Given the description of an element on the screen output the (x, y) to click on. 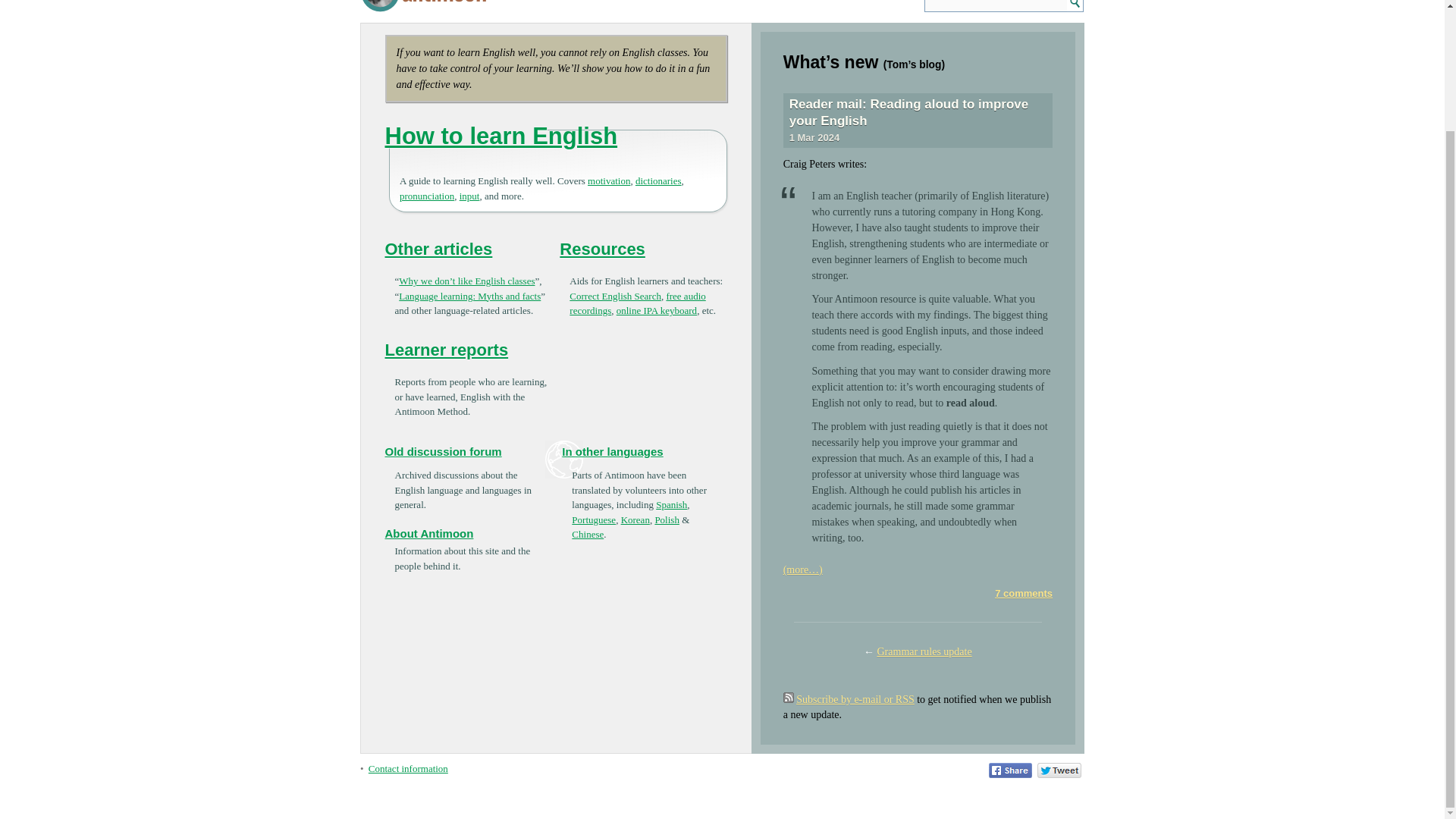
How to learn English (501, 135)
input (470, 195)
Contact information (408, 767)
Korean (635, 519)
Share this page on Facebook (1010, 770)
Reader mail: Reading aloud to improve your English (909, 112)
In other languages (612, 451)
7 comments (1023, 593)
Subscribe by e-mail or RSS (855, 699)
motivation (609, 180)
Portuguese (593, 519)
Other articles (439, 248)
Share this page on Twitter (1058, 770)
Correct English Search (615, 296)
